Given the description of an element on the screen output the (x, y) to click on. 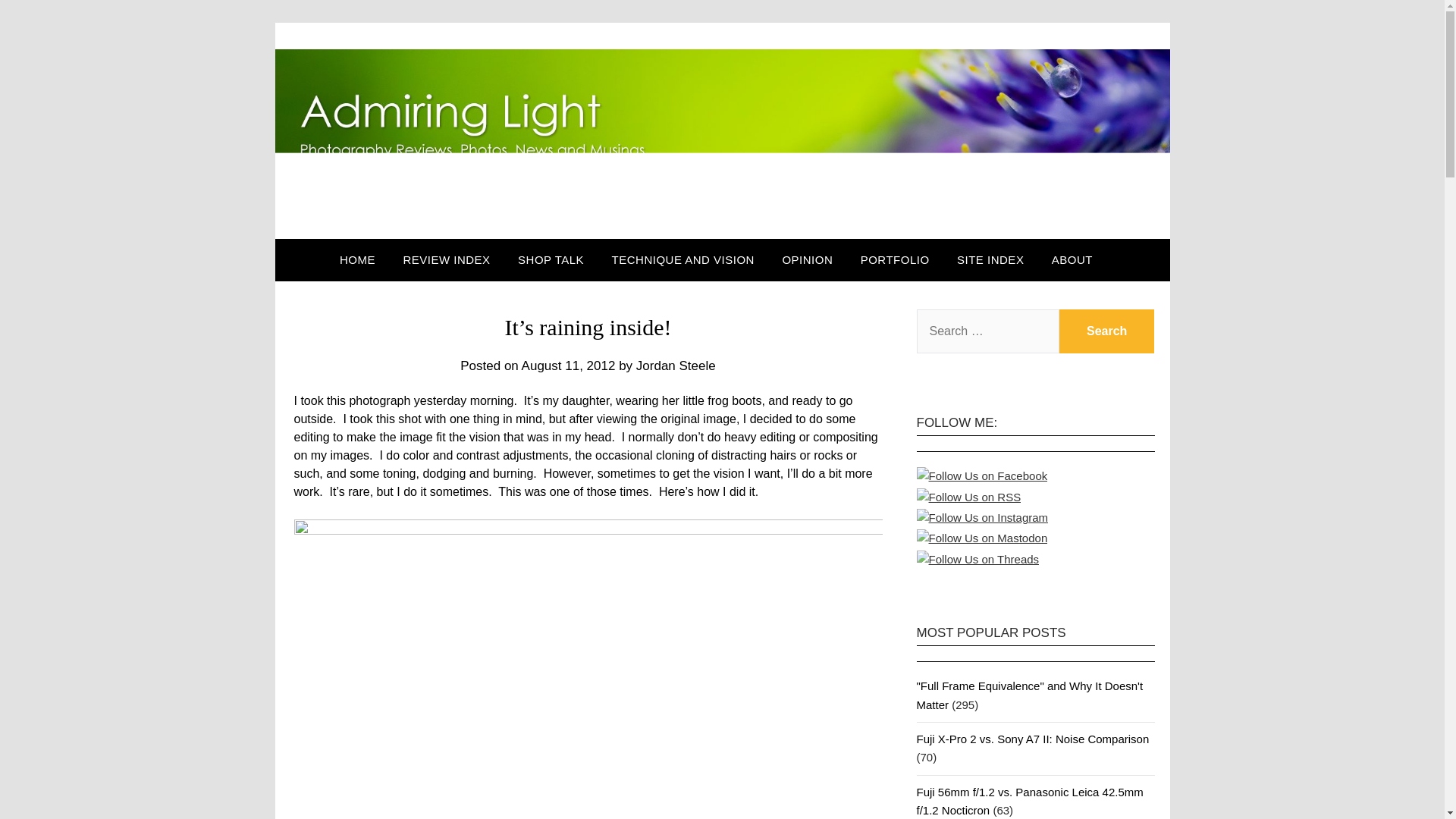
TECHNIQUE AND VISION (683, 259)
HOME (363, 259)
Follow Us on Threads (977, 559)
Follow Us on Mastodon (980, 538)
Search (1106, 330)
OPINION (807, 259)
August 11, 2012 (568, 365)
SHOP TALK (550, 259)
Follow Us on Instagram (981, 517)
SITE INDEX (989, 259)
Follow Us on Facebook (980, 475)
Search (1106, 330)
Follow Us on RSS (967, 497)
Jordan Steele (676, 365)
Fuji X-Pro 2 vs. Sony A7 II: Noise Comparison (1031, 738)
